Given the description of an element on the screen output the (x, y) to click on. 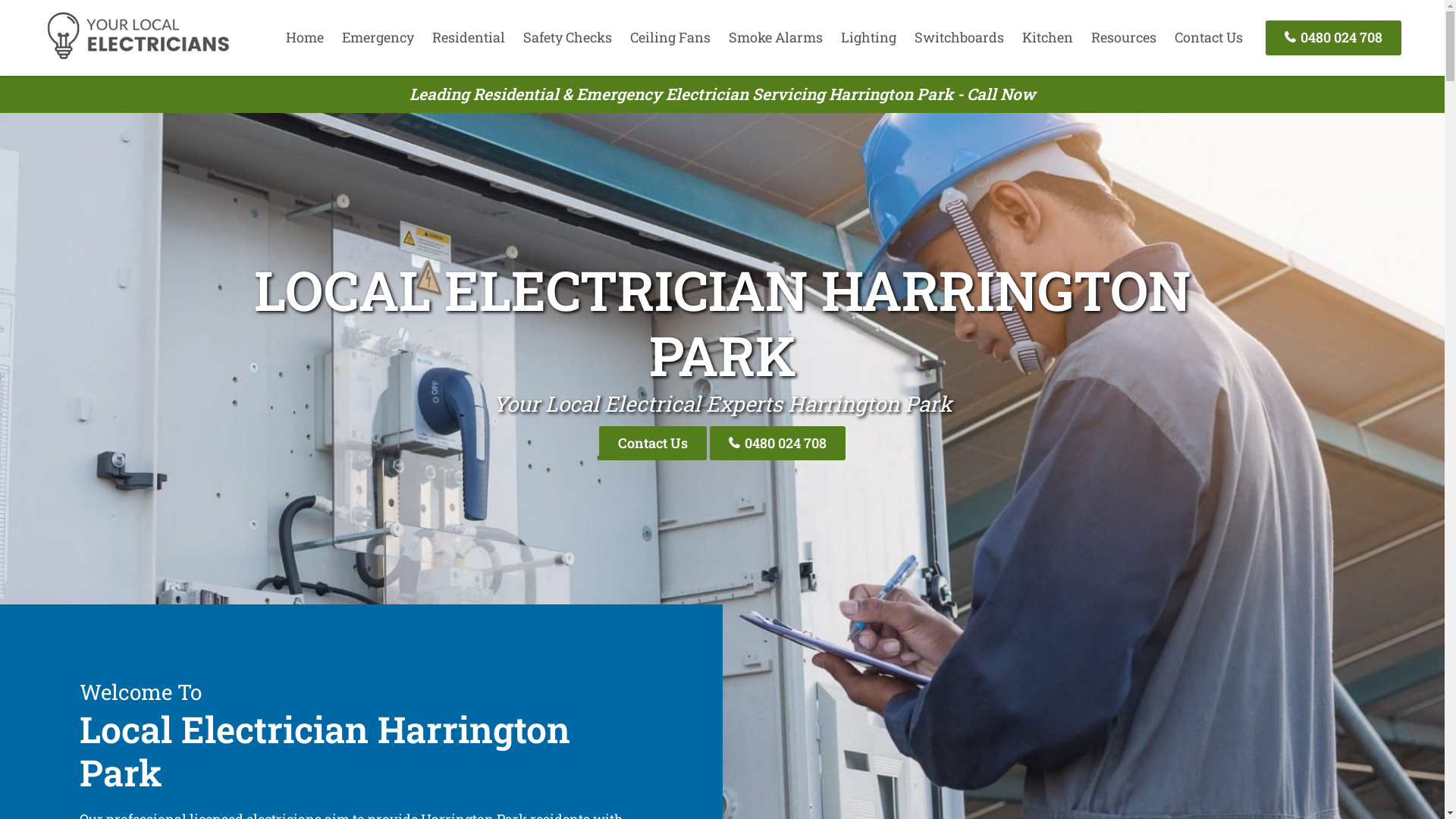
Smoke Alarms Element type: text (775, 37)
Contact Us Element type: text (652, 443)
Resources Element type: text (1123, 37)
0480 024 708 Element type: text (777, 443)
Safety Checks Element type: text (567, 37)
Lighting Element type: text (868, 37)
Residential Element type: text (468, 37)
Kitchen Element type: text (1047, 37)
Electricians Element type: hover (137, 56)
0480 024 708 Element type: text (1333, 37)
Ceiling Fans Element type: text (670, 37)
Contact Us Element type: text (1208, 37)
Home Element type: text (304, 37)
Emergency Element type: text (377, 37)
Switchboards Element type: text (958, 37)
